Given the description of an element on the screen output the (x, y) to click on. 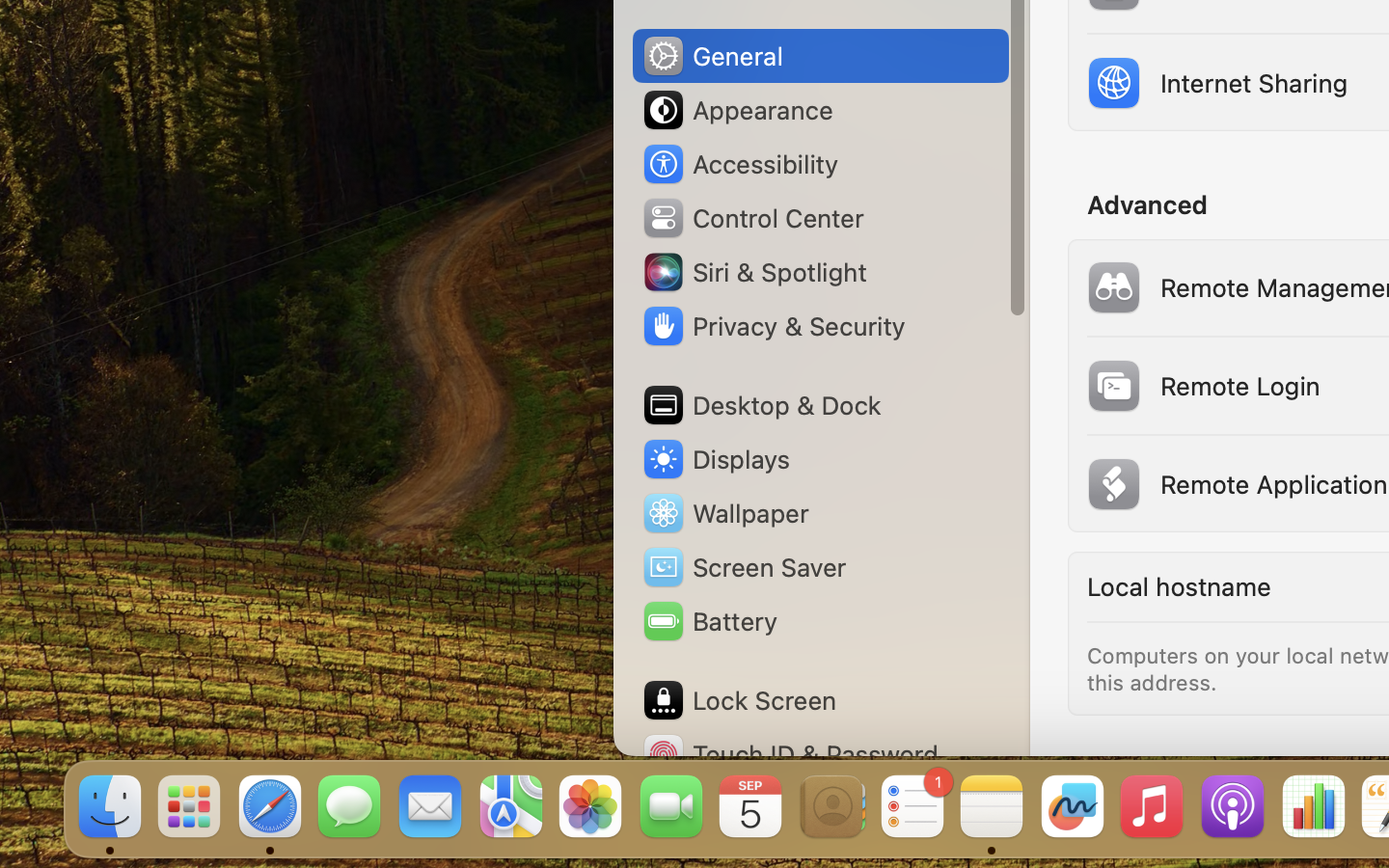
Control Center Element type: AXStaticText (752, 217)
General Element type: AXStaticText (711, 55)
Appearance Element type: AXStaticText (736, 109)
Lock Screen Element type: AXStaticText (738, 700)
Siri & Spotlight Element type: AXStaticText (753, 271)
